Given the description of an element on the screen output the (x, y) to click on. 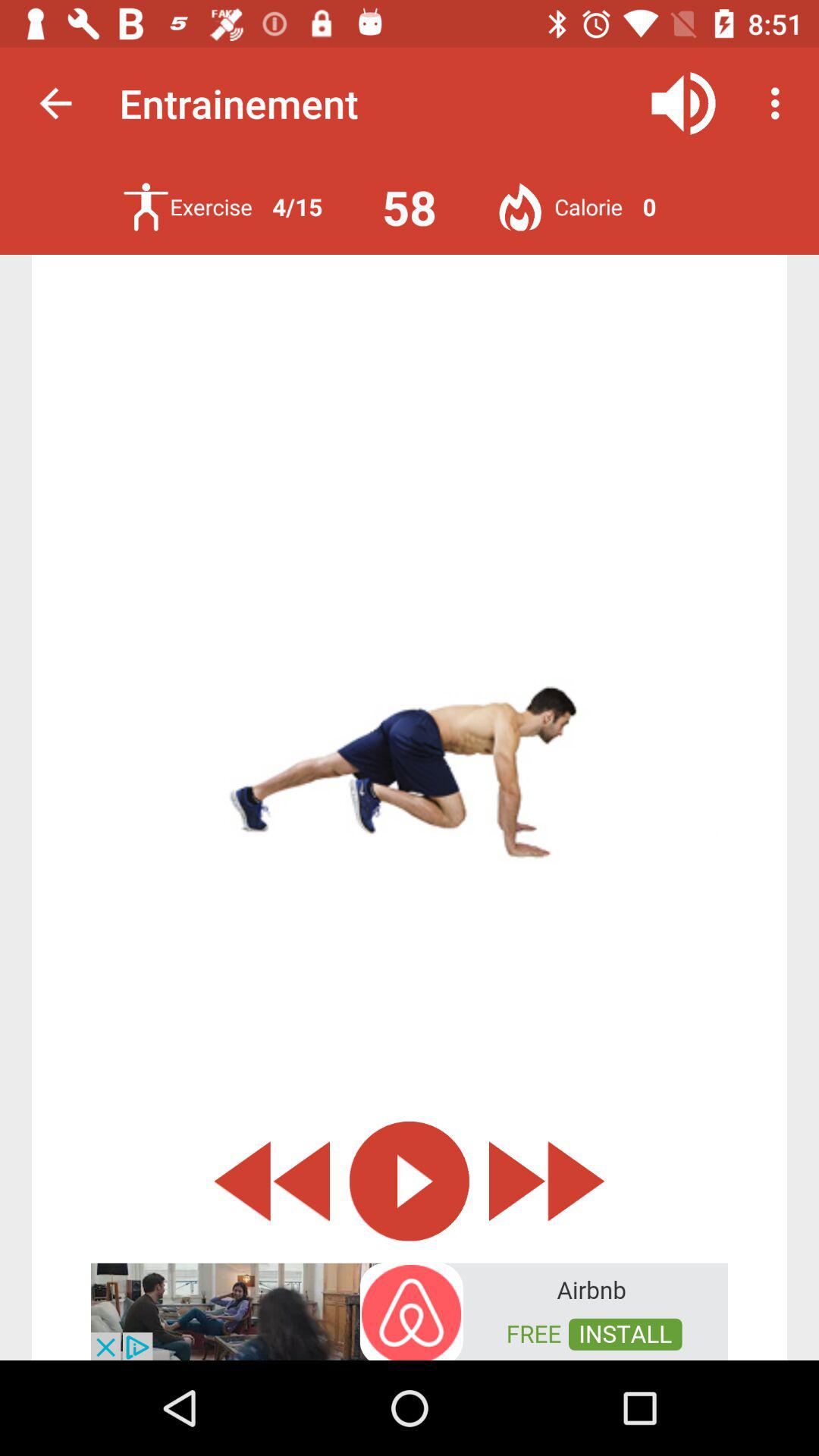
next video go start button (546, 1181)
